Given the description of an element on the screen output the (x, y) to click on. 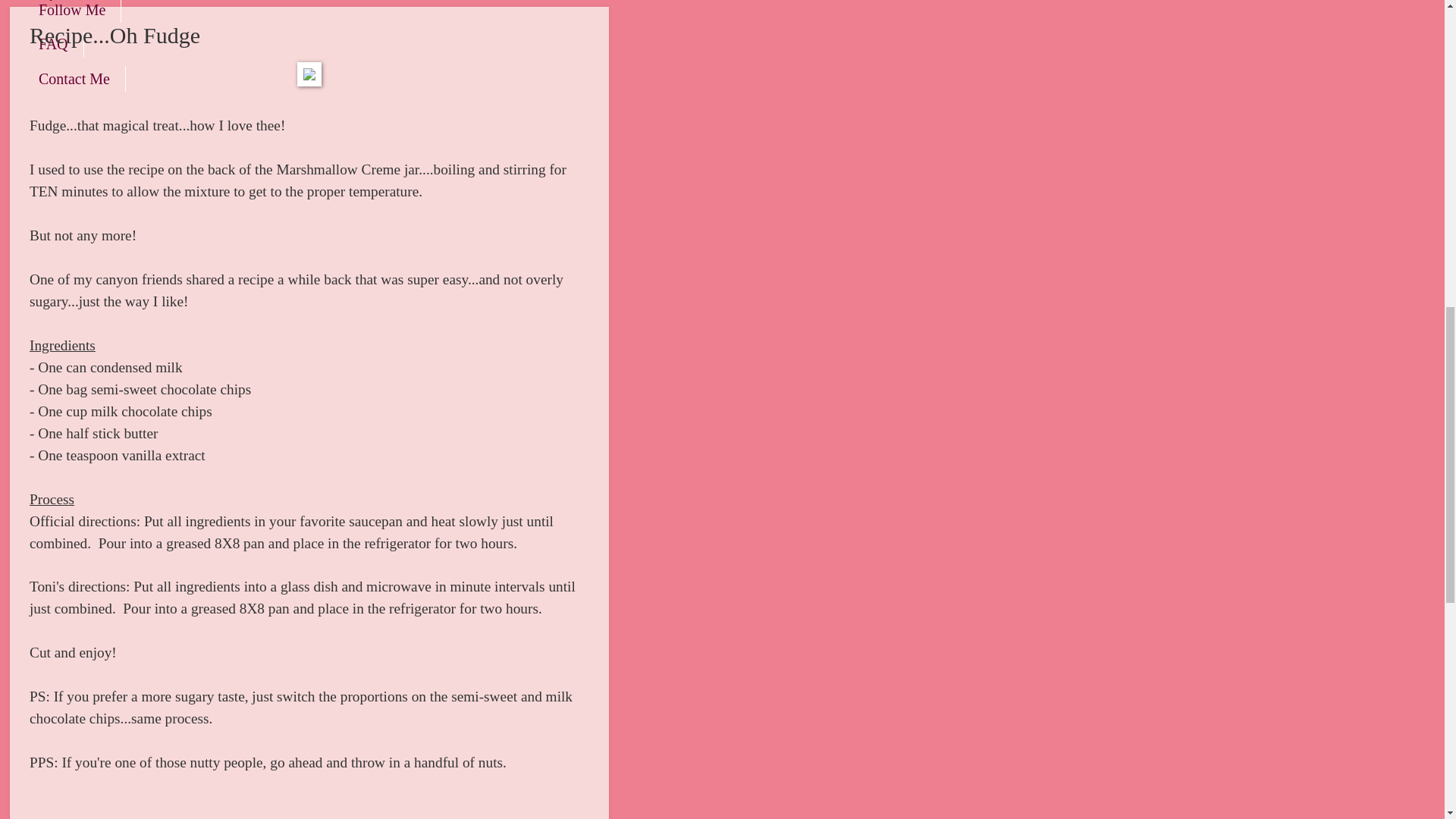
Follow Me (71, 11)
FAQ (53, 43)
Contact Me (74, 78)
